Given the description of an element on the screen output the (x, y) to click on. 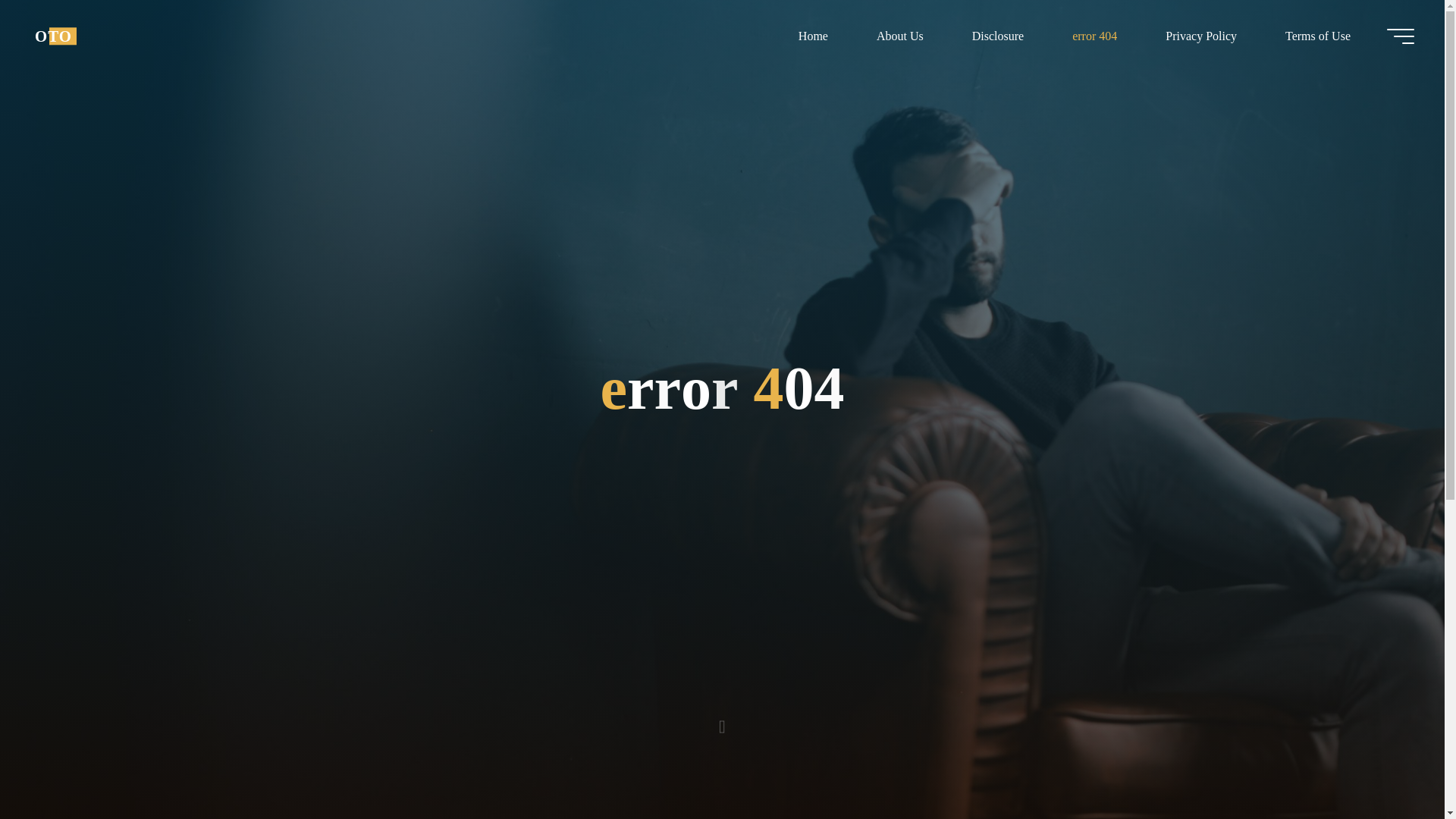
Terms of Use (1317, 35)
About Us (899, 35)
Home (812, 35)
Privacy Policy (1200, 35)
OTO (53, 36)
error 404 (1094, 35)
Disclosure (997, 35)
Read more (721, 724)
